Given the description of an element on the screen output the (x, y) to click on. 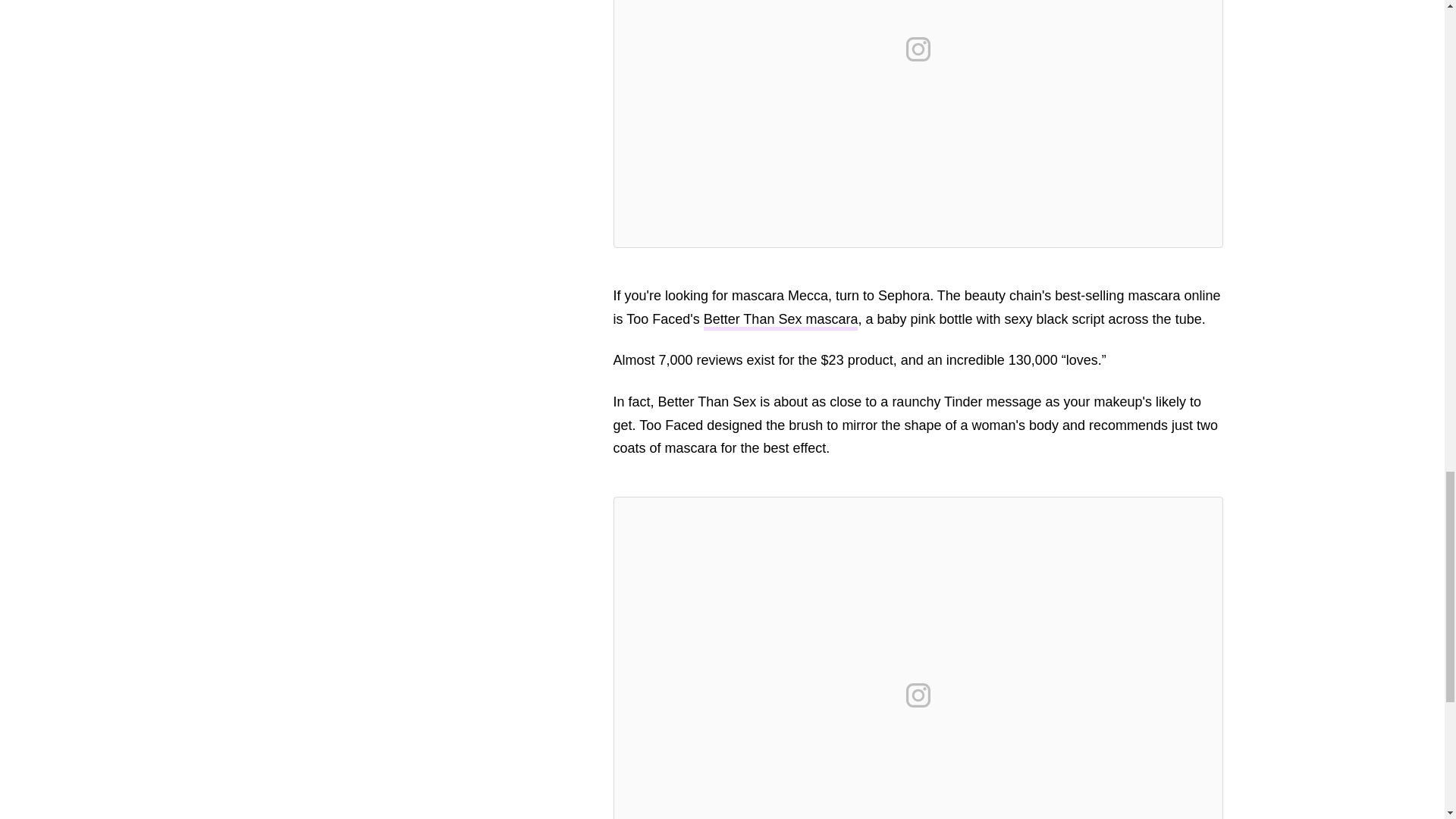
Better Than Sex mascara (781, 321)
View on Instagram (917, 49)
View on Instagram (917, 695)
